Given the description of an element on the screen output the (x, y) to click on. 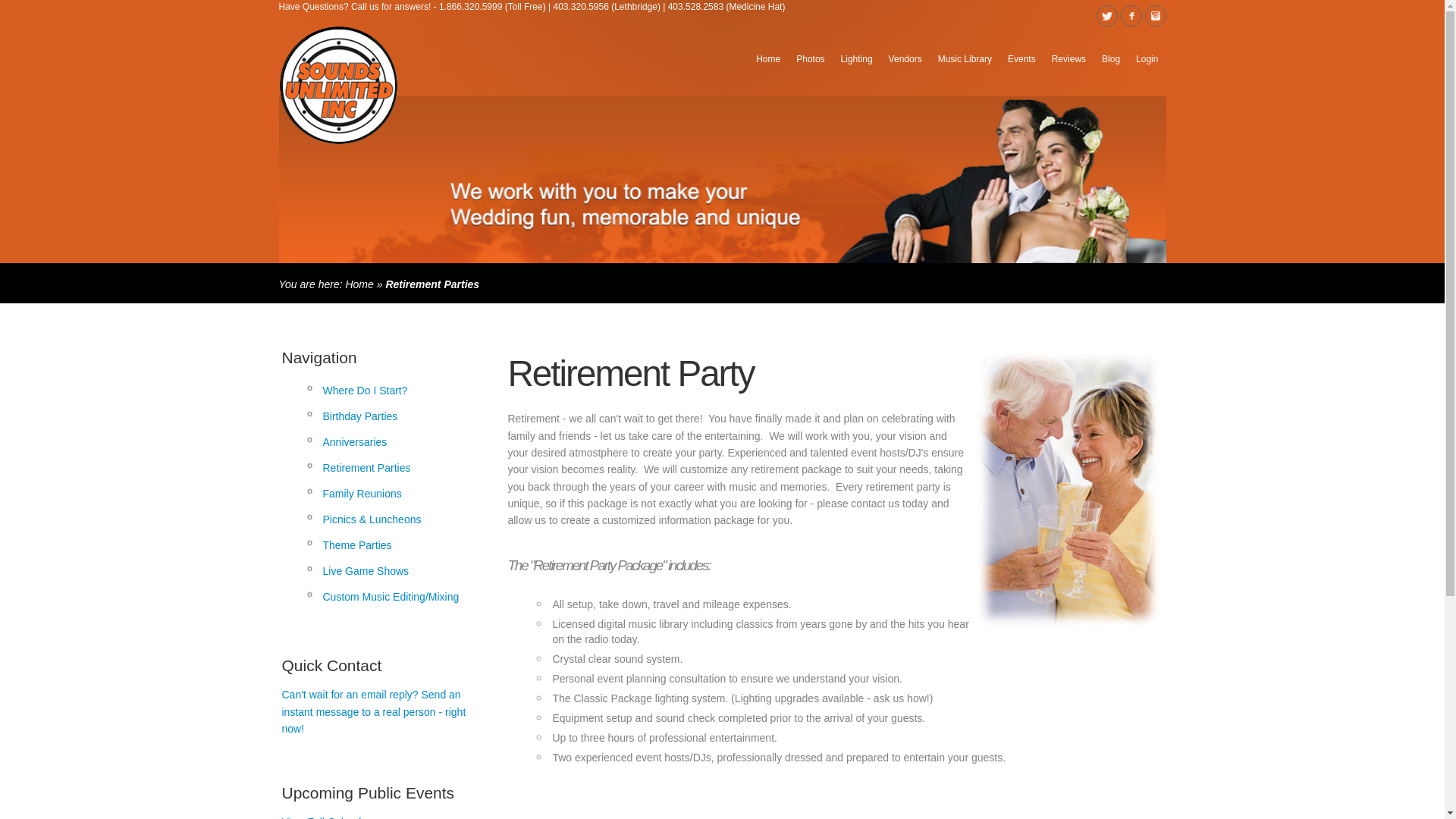
View Full Calendar (326, 817)
Follow Us (1106, 15)
Facebook (1131, 15)
Where Do I Start? (394, 390)
Retirement Parties (394, 467)
Music Library (964, 58)
Reviews (1068, 58)
Home (358, 284)
Family Reunions (394, 493)
Lighting (856, 58)
